Given the description of an element on the screen output the (x, y) to click on. 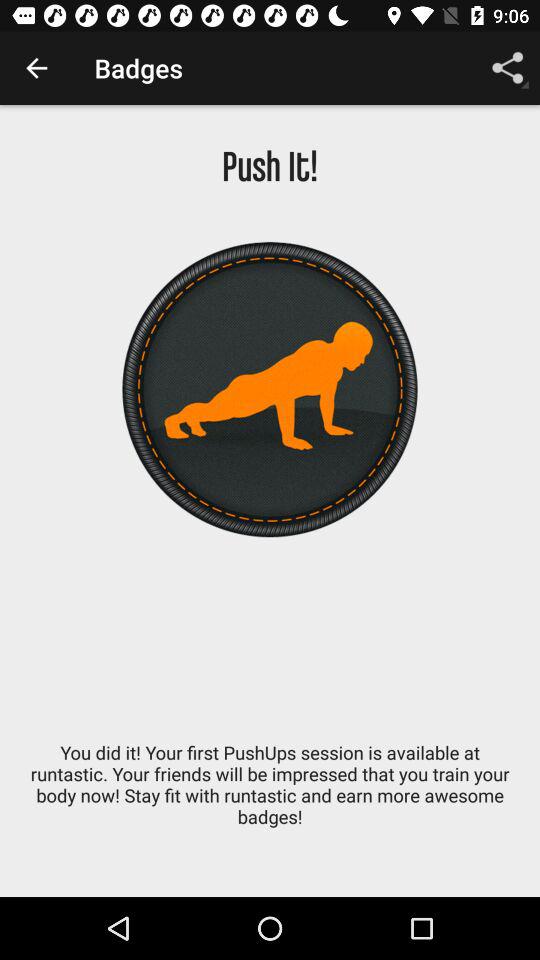
open app to the right of badges app (508, 67)
